Given the description of an element on the screen output the (x, y) to click on. 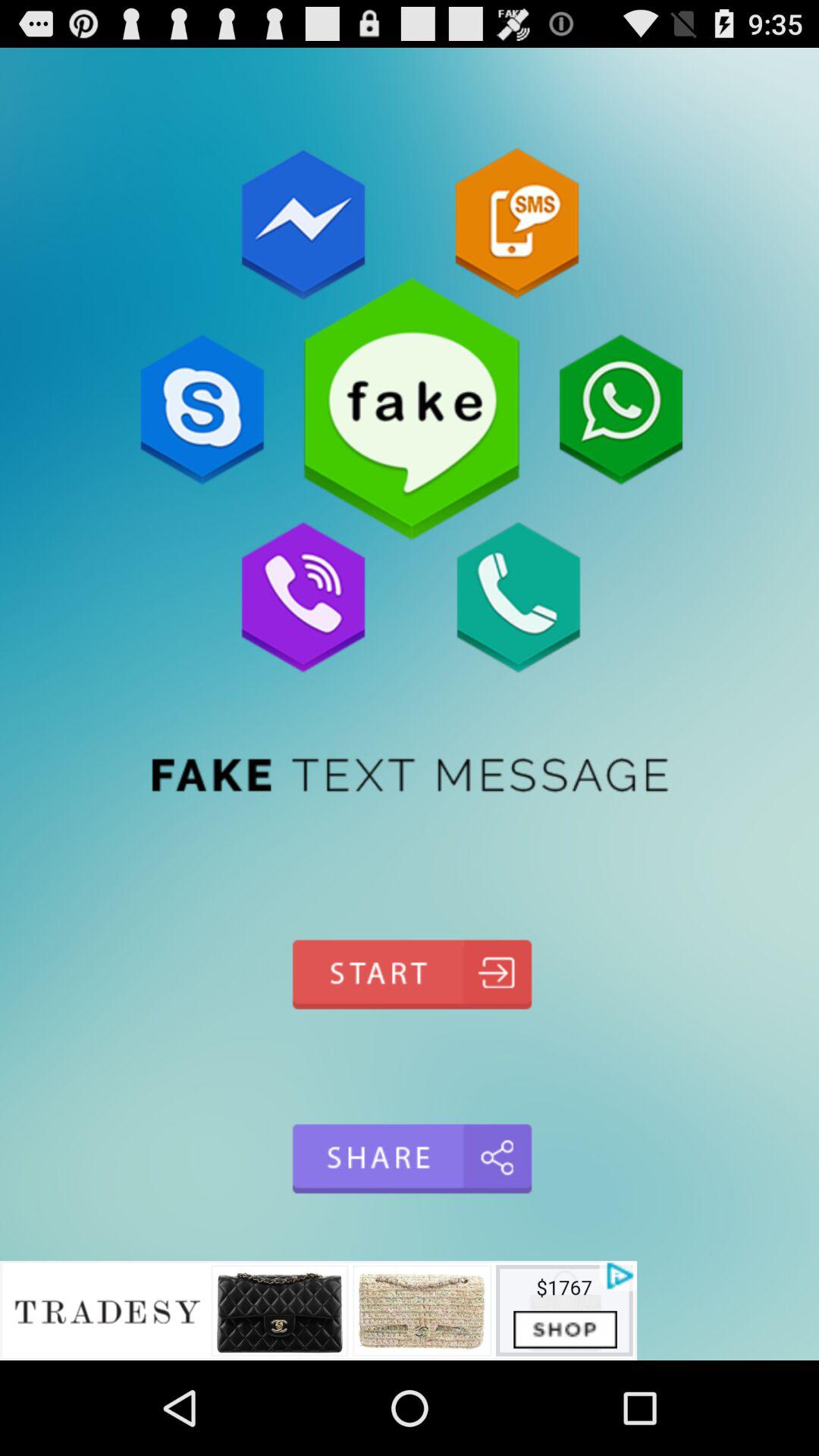
click to share option (409, 1158)
